Given the description of an element on the screen output the (x, y) to click on. 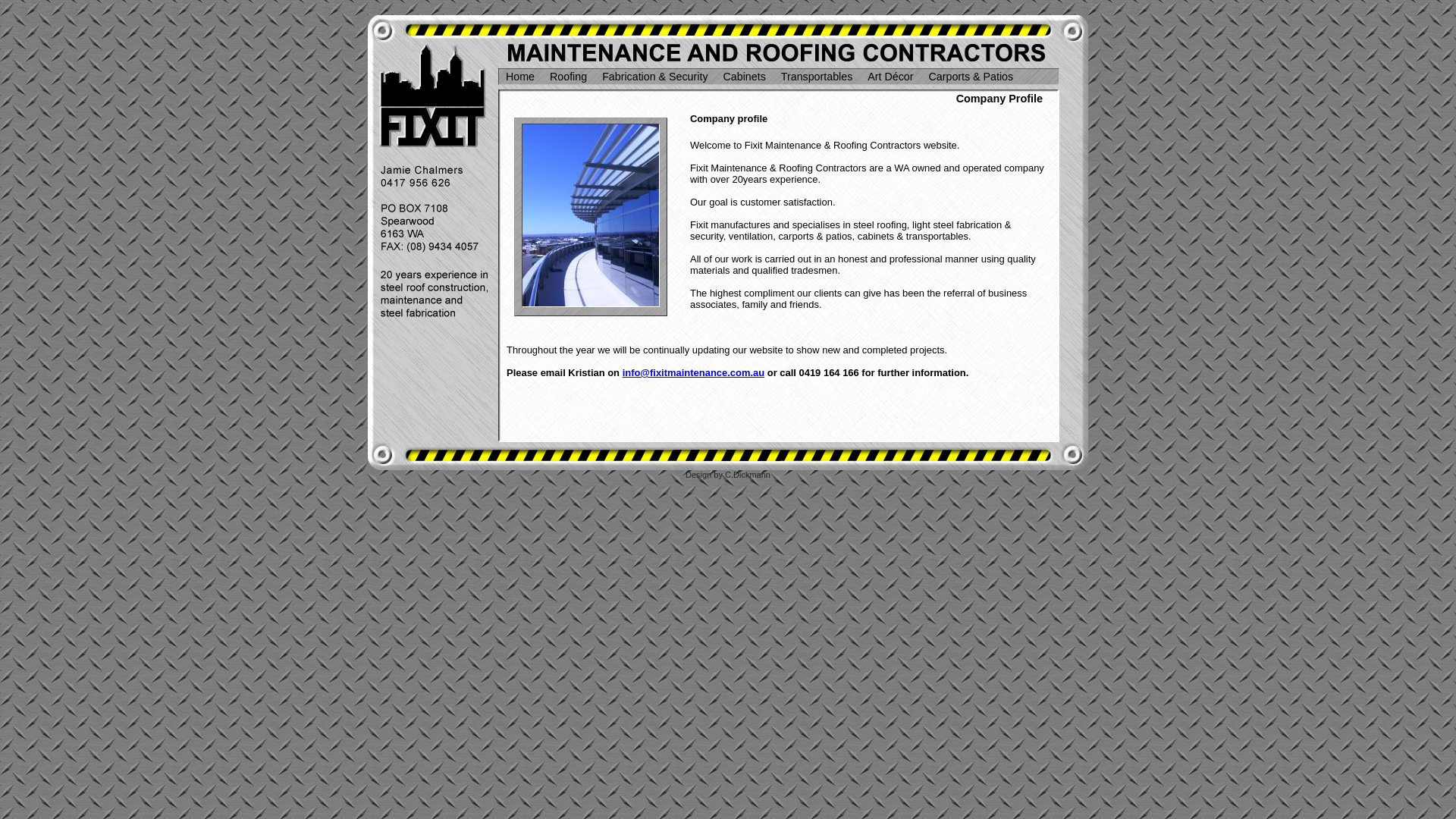
Fabrication & Security Element type: text (654, 77)
info@fixitmaintenance.com.au Element type: text (693, 372)
Home Element type: text (520, 77)
Carports & Patios Element type: text (970, 77)
Cabinets Element type: text (744, 77)
Design by C.Dickmann Element type: text (727, 474)
Roofing Element type: text (568, 77)
Transportables Element type: text (816, 77)
